Given the description of an element on the screen output the (x, y) to click on. 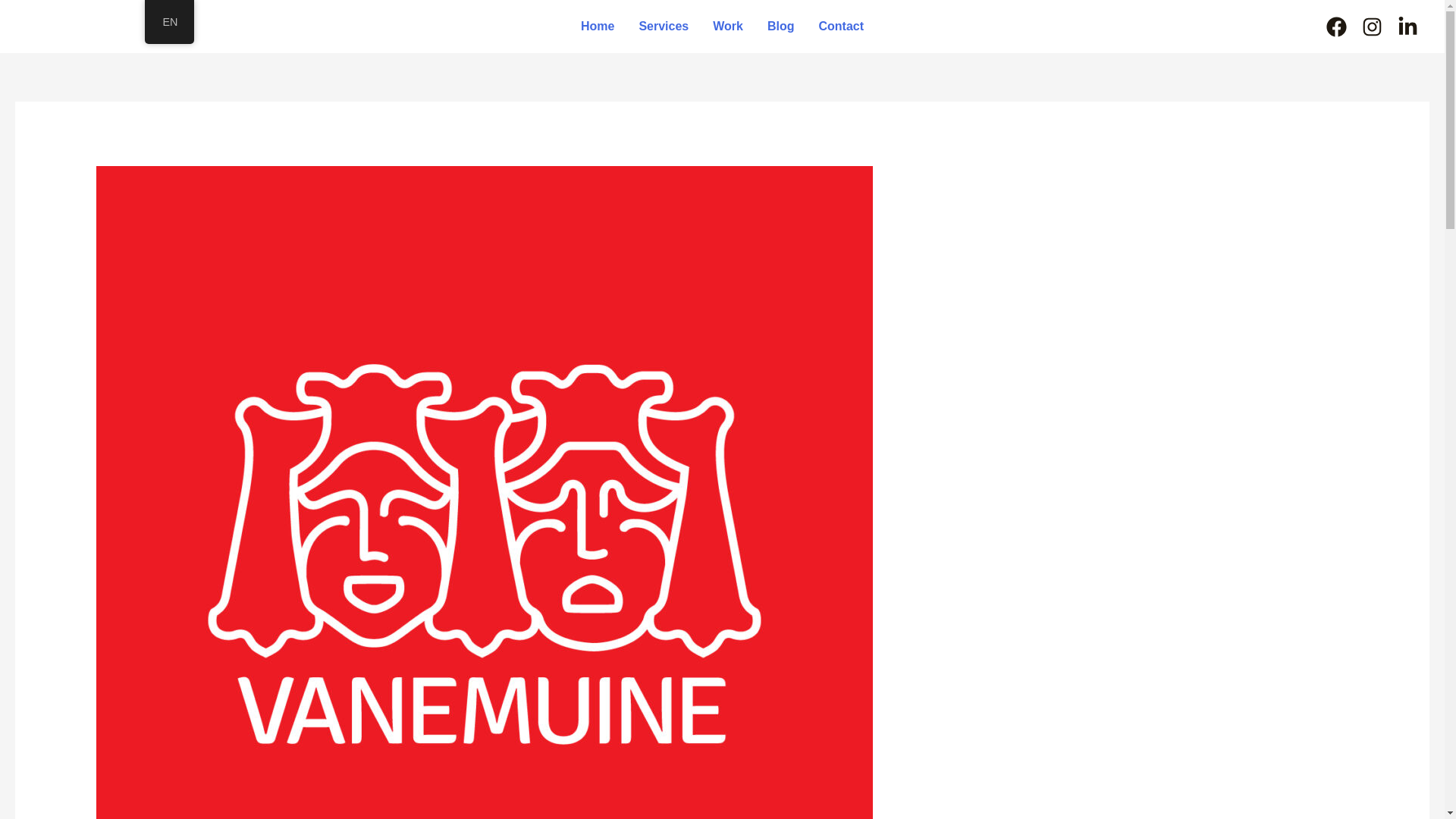
Home (597, 26)
Work (727, 26)
Contact (841, 26)
EN (168, 22)
Blog (780, 26)
Services (663, 26)
